Given the description of an element on the screen output the (x, y) to click on. 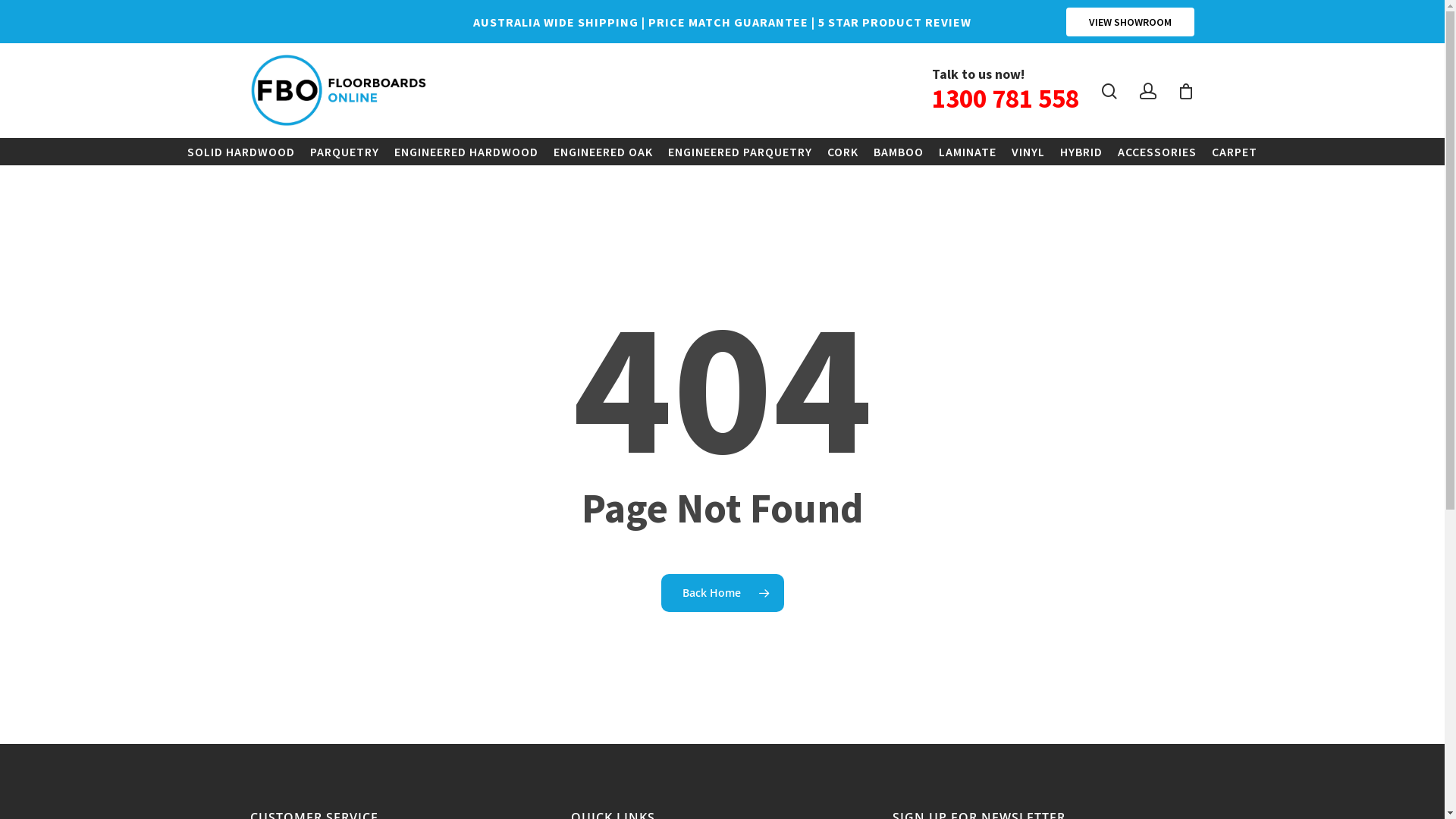
PARQUETRY Element type: text (344, 151)
VIEW SHOWROOM Element type: text (1130, 21)
HYBRID Element type: text (1081, 151)
ACCESSORIES Element type: text (1157, 151)
LAMINATE Element type: text (967, 151)
Back Home Element type: text (722, 592)
ENGINEERED OAK Element type: text (603, 151)
1300 781 558 Element type: text (1005, 98)
ENGINEERED PARQUETRY Element type: text (739, 151)
SOLID HARDWOOD Element type: text (240, 151)
CORK Element type: text (842, 151)
BAMBOO Element type: text (898, 151)
VINYL Element type: text (1028, 151)
CARPET Element type: text (1234, 151)
ENGINEERED HARDWOOD Element type: text (466, 151)
